Given the description of an element on the screen output the (x, y) to click on. 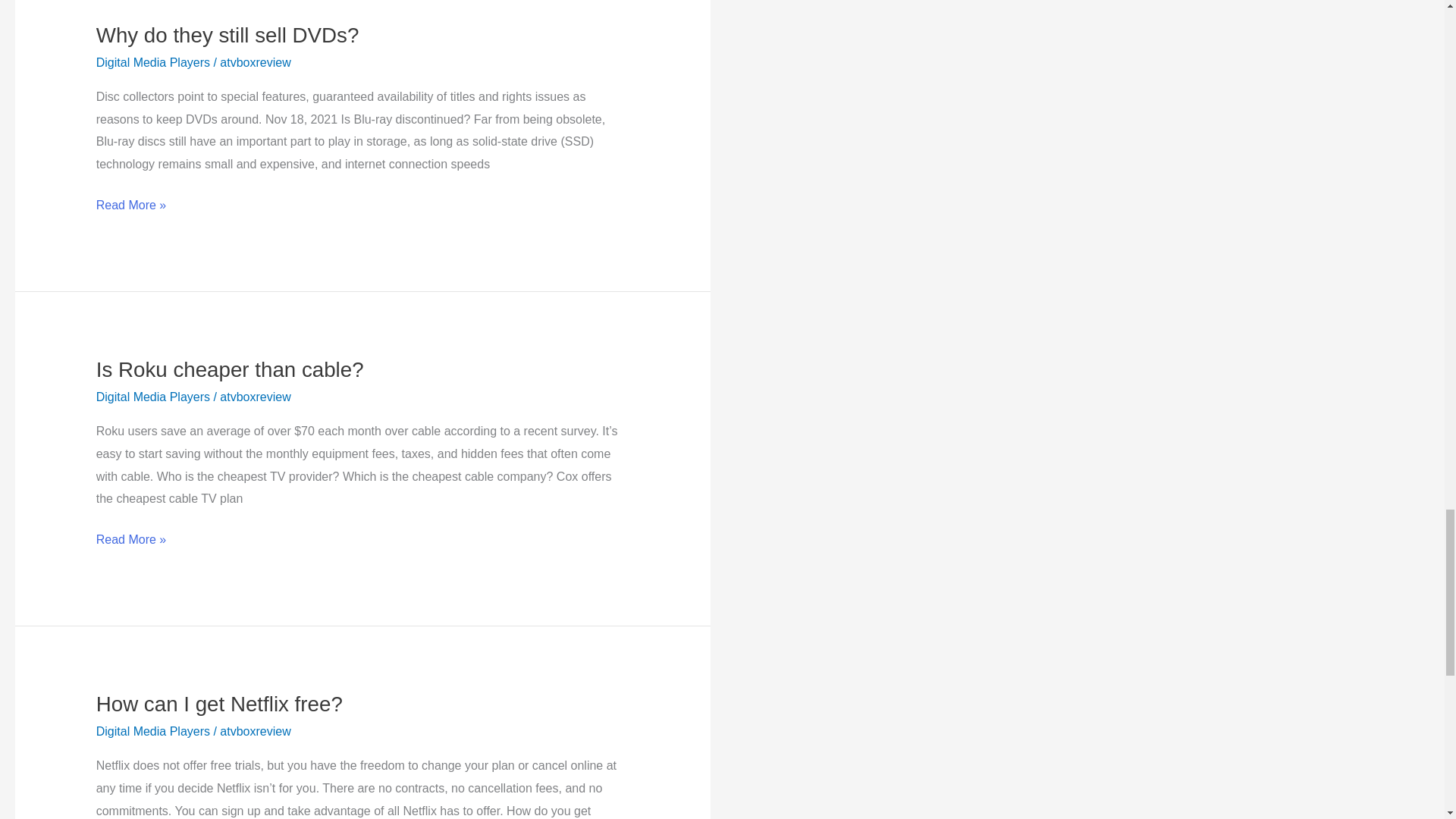
View all posts by atvboxreview (254, 62)
Why do they still sell DVDs? (227, 34)
View all posts by atvboxreview (254, 730)
Digital Media Players (152, 62)
View all posts by atvboxreview (254, 396)
